Given the description of an element on the screen output the (x, y) to click on. 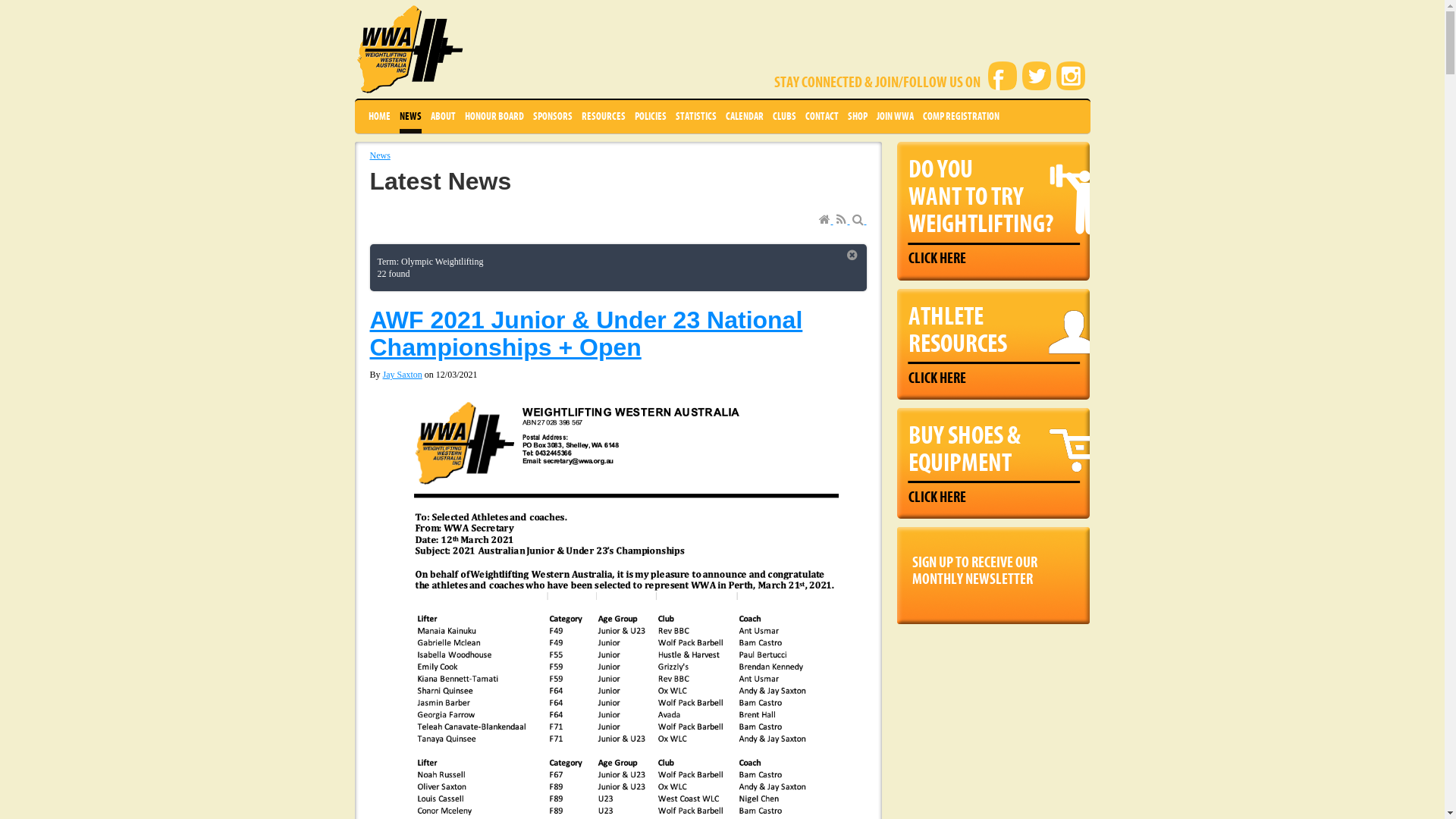
CLICK HERE Element type: text (937, 258)
SIGN UP TO RECEIVE OUR MONTHLY NEWSLETTER Element type: text (992, 567)
SPONSORS Element type: text (551, 116)
  Element type: text (842, 220)
RSS Element type: hover (842, 220)
NEWS Element type: text (409, 116)
SHOP Element type: text (857, 116)
CONTACT Element type: text (821, 116)
Jay Saxton Element type: text (402, 374)
  Element type: text (859, 220)
HOME Element type: text (379, 116)
JOIN WWA Element type: text (894, 116)
Home Element type: hover (826, 220)
RESOURCES Element type: text (602, 116)
AWF 2021 Junior & Under 23 National Championships + Open Element type: text (586, 333)
Search Element type: hover (859, 220)
ABOUT Element type: text (442, 116)
POLICIES Element type: text (649, 116)
  Element type: text (826, 220)
News Element type: text (380, 155)
CLICK HERE Element type: text (937, 497)
CALENDAR Element type: text (743, 116)
COMP REGISTRATION Element type: text (960, 116)
CLICK HERE Element type: text (937, 378)
CLUBS Element type: text (783, 116)
